Given the description of an element on the screen output the (x, y) to click on. 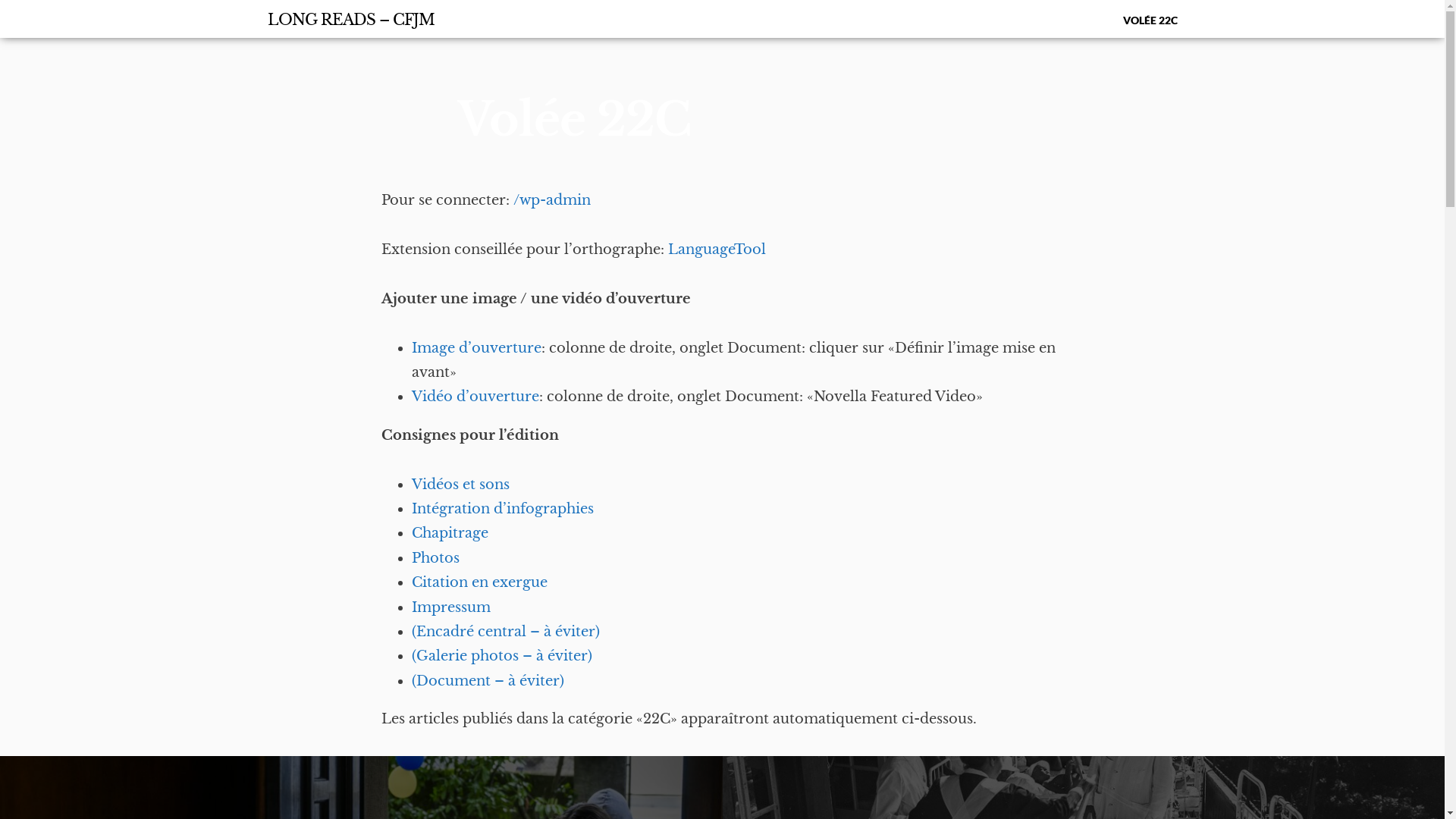
Impressum Element type: text (450, 607)
/wp-admin Element type: text (550, 199)
LanguageTool Element type: text (716, 249)
Chapitrage Element type: text (449, 532)
Photos Element type: text (434, 557)
Citation en exergue  Element type: text (480, 582)
